Given the description of an element on the screen output the (x, y) to click on. 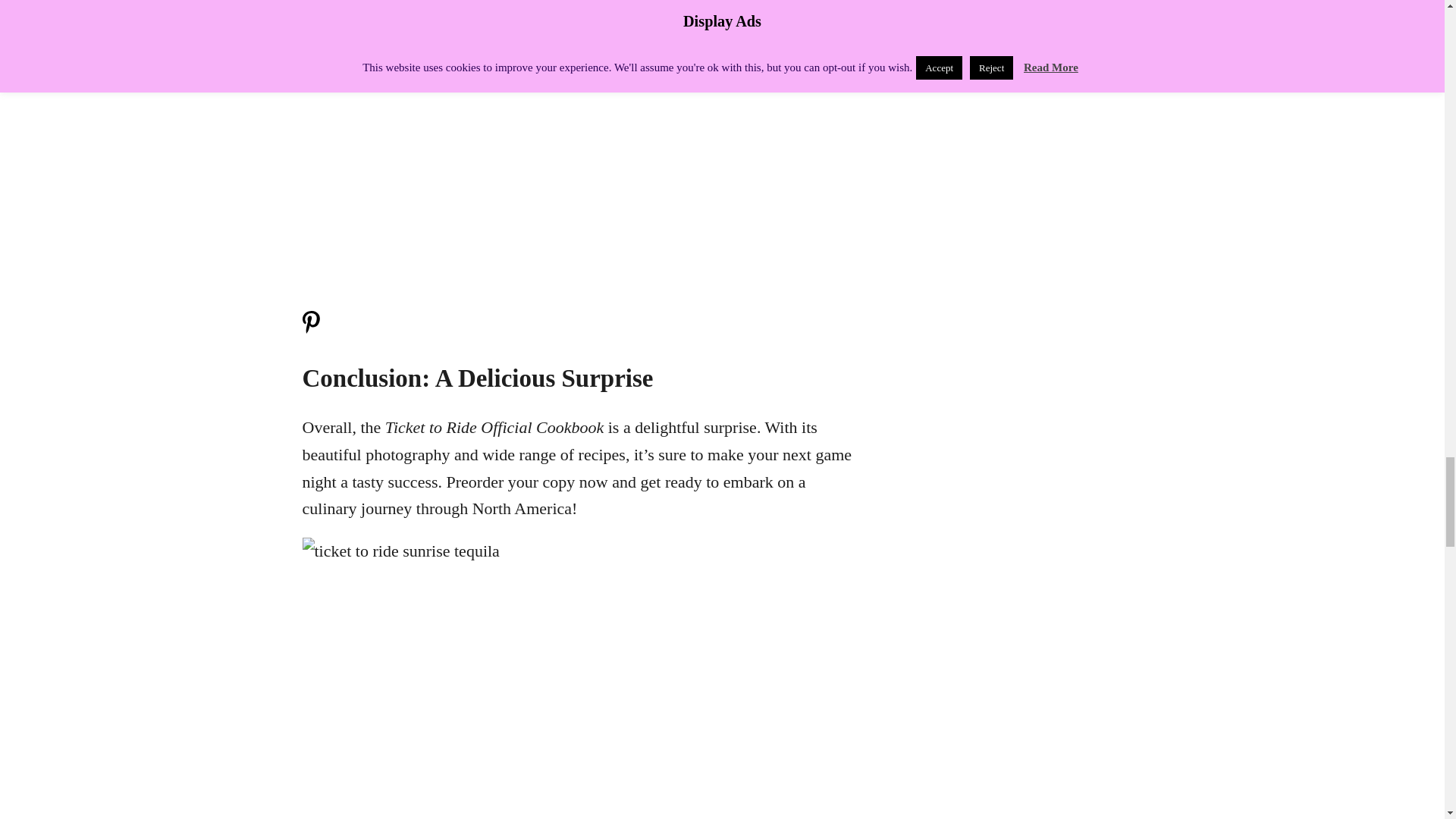
Pin Me! (309, 329)
